Given the description of an element on the screen output the (x, y) to click on. 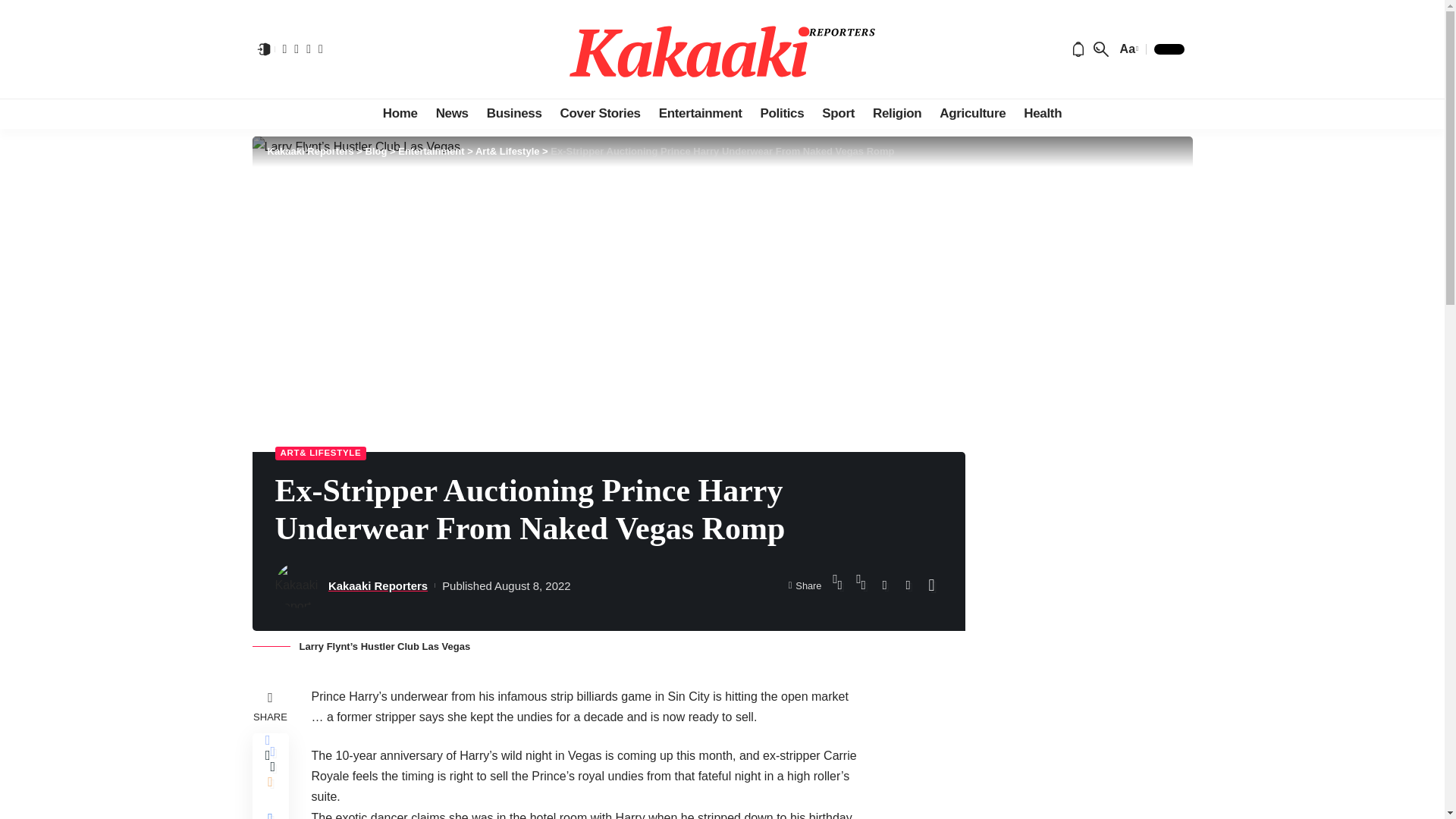
Go to Kakaaki Reporters. (309, 151)
Religion (896, 113)
Politics (782, 113)
Agriculture (972, 113)
Go to Blog. (376, 151)
Kakaaki Reporters (721, 48)
Health (1042, 113)
Go to the Entertainment Category archives. (430, 151)
Sport (837, 113)
Aa (1127, 48)
